Given the description of an element on the screen output the (x, y) to click on. 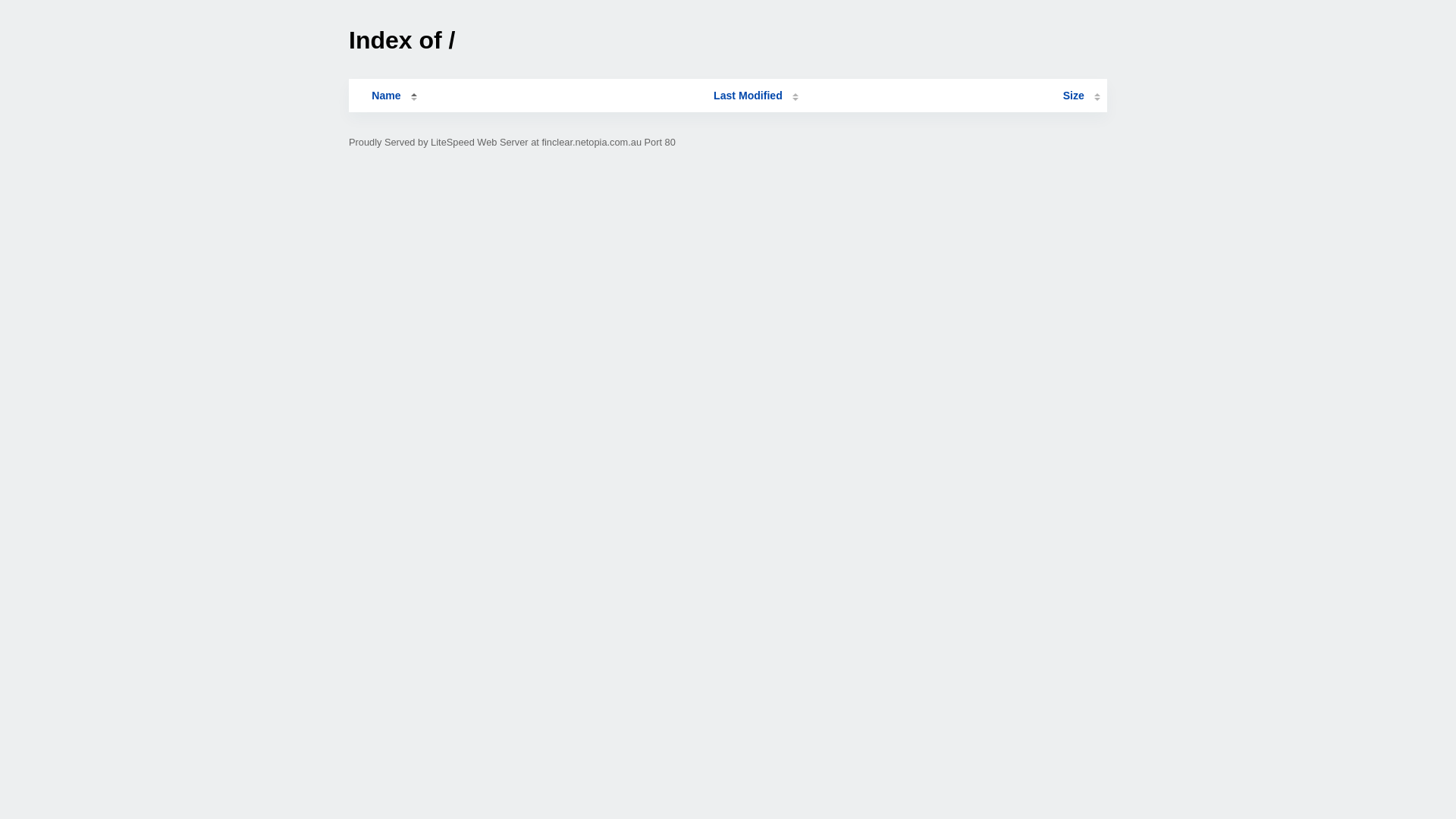
Last Modified Element type: text (755, 95)
Size Element type: text (1081, 95)
Name Element type: text (385, 95)
